Given the description of an element on the screen output the (x, y) to click on. 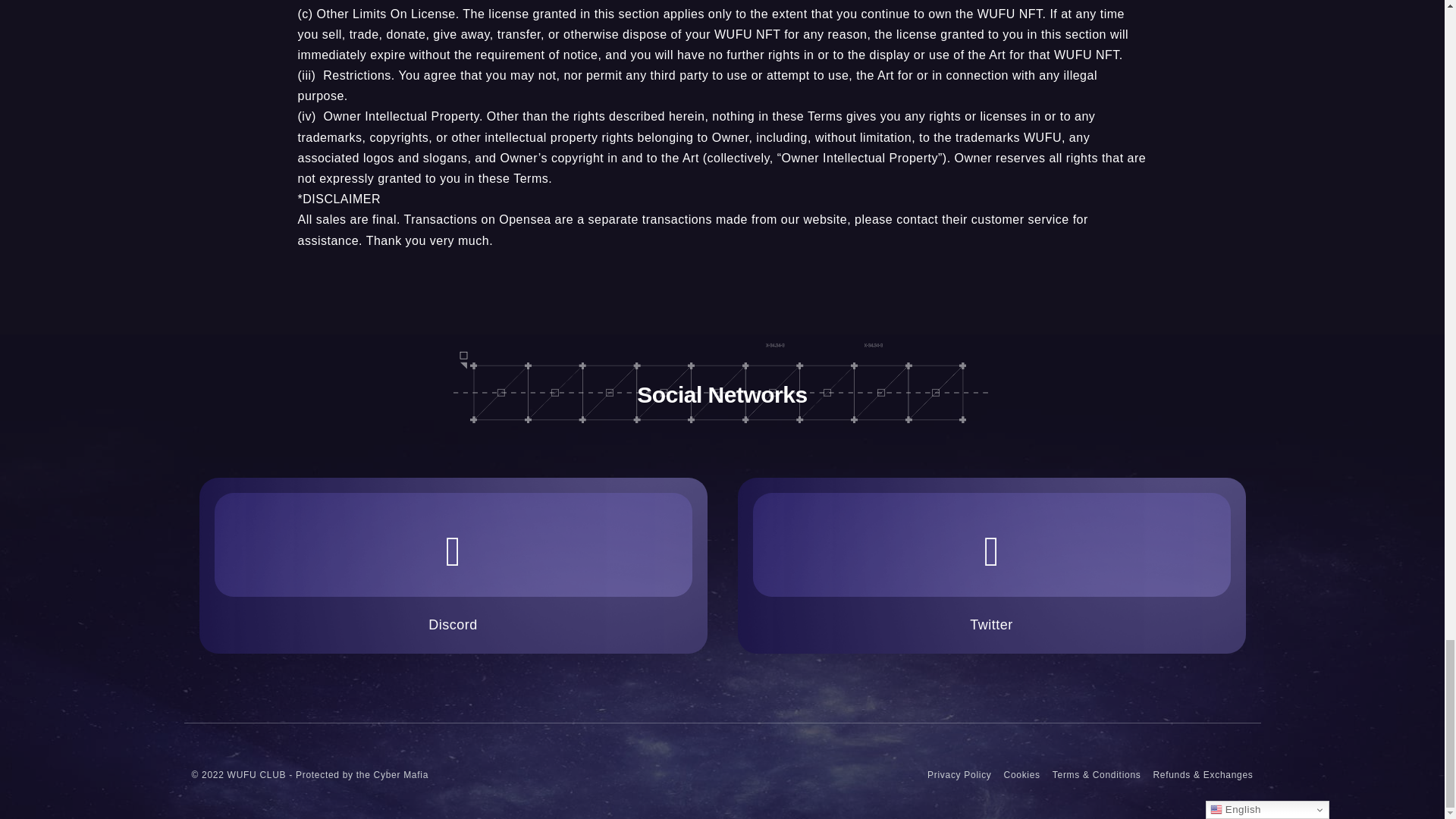
Cookies (1022, 775)
Privacy Policy (959, 775)
